Given the description of an element on the screen output the (x, y) to click on. 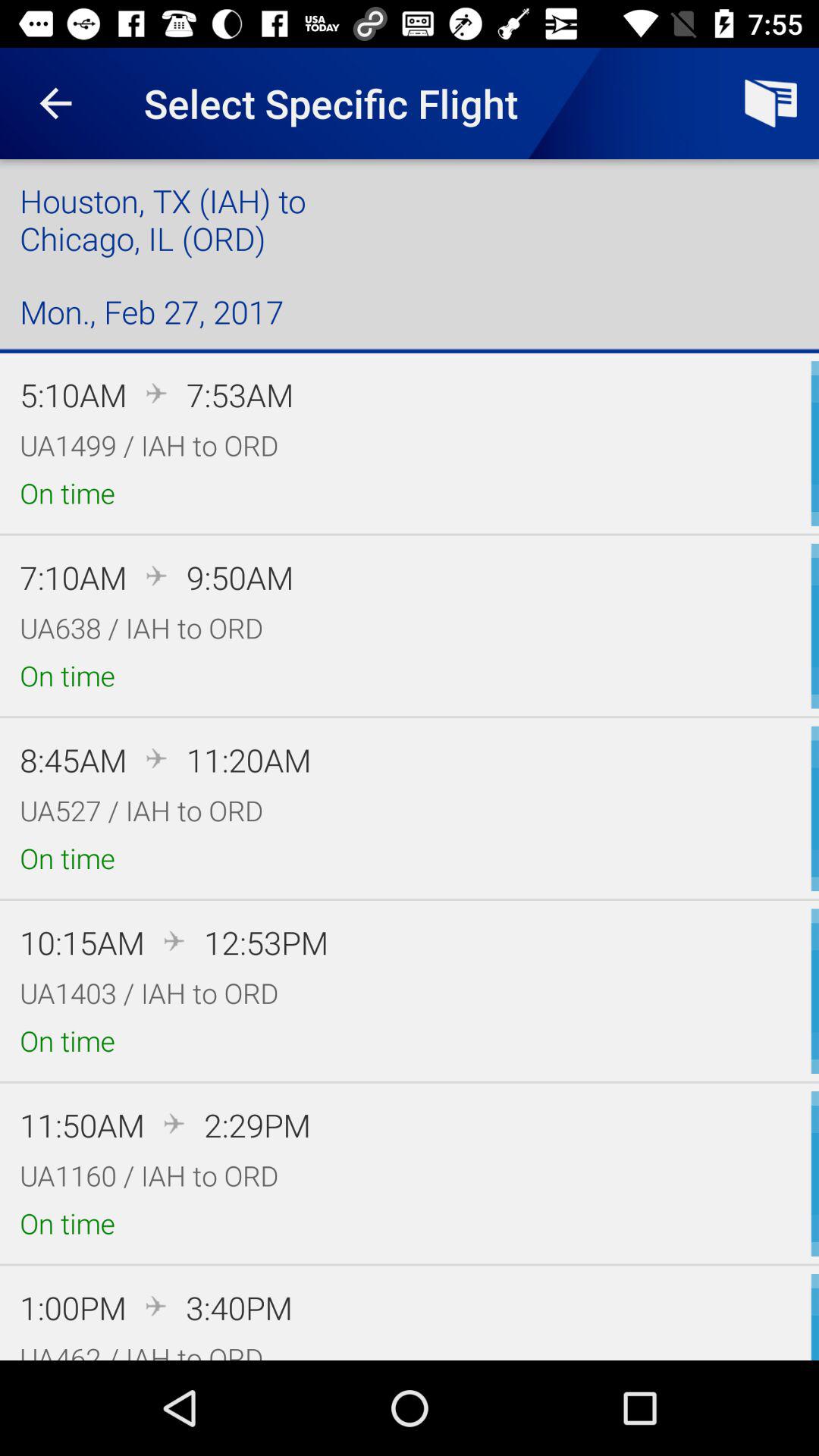
press the ua638 iah to icon (141, 627)
